Given the description of an element on the screen output the (x, y) to click on. 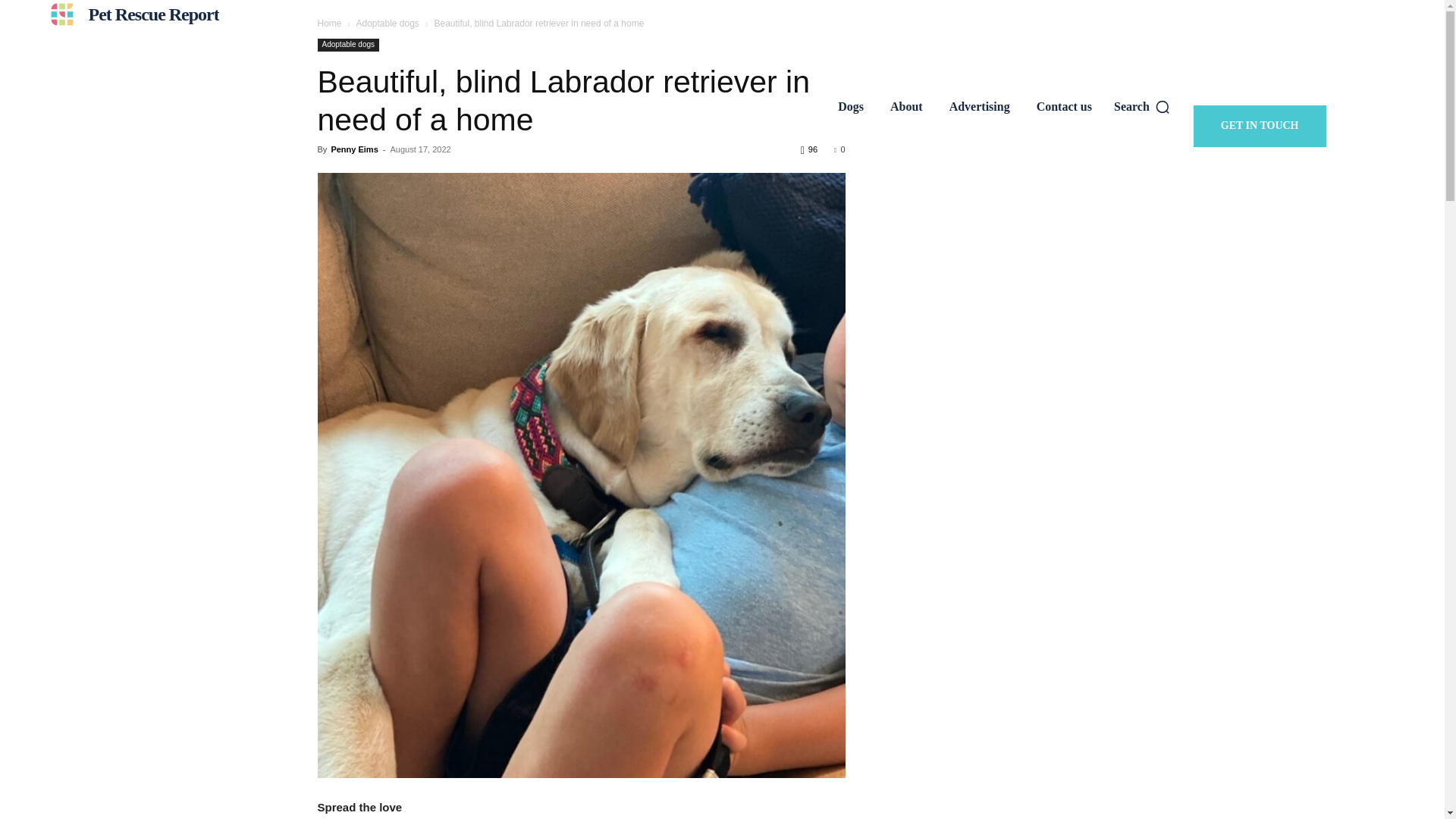
View all posts in Adoptable dogs (387, 23)
Home (328, 23)
0 (839, 148)
Adoptable dogs (387, 23)
Search (1141, 106)
Advertising (978, 106)
Contact us (1064, 106)
Penny Eims (353, 148)
Pet Rescue Report (130, 14)
About (906, 106)
Get in Touch (1259, 126)
Adoptable dogs (347, 44)
GET IN TOUCH (1259, 126)
